Given the description of an element on the screen output the (x, y) to click on. 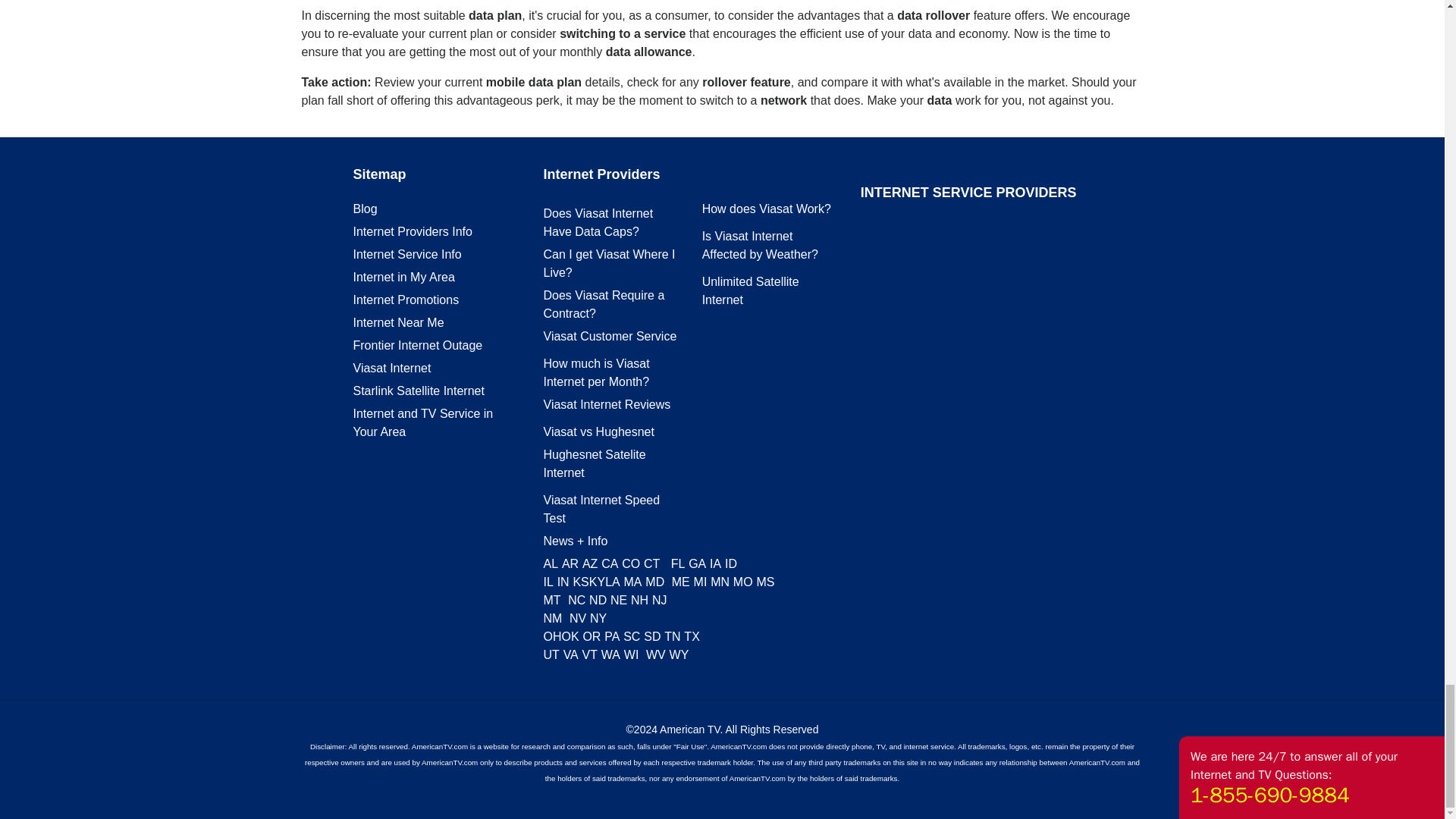
Viasat Internet Reviews (606, 404)
Viasat Internet (391, 367)
Does Viasat Require a Contract? (603, 304)
Viasat vs Hughesnet (598, 431)
Unlimited Satellite Internet (750, 290)
Internet in My Area (403, 277)
Kentucky (597, 581)
Internet Service Info (407, 254)
Viasat Customer Service (610, 336)
Alabama (550, 563)
How much is Viasat Internet per Month? (596, 372)
Massachusetts (632, 581)
AZ (589, 563)
Internet Near Me (398, 322)
Colorado (630, 563)
